Given the description of an element on the screen output the (x, y) to click on. 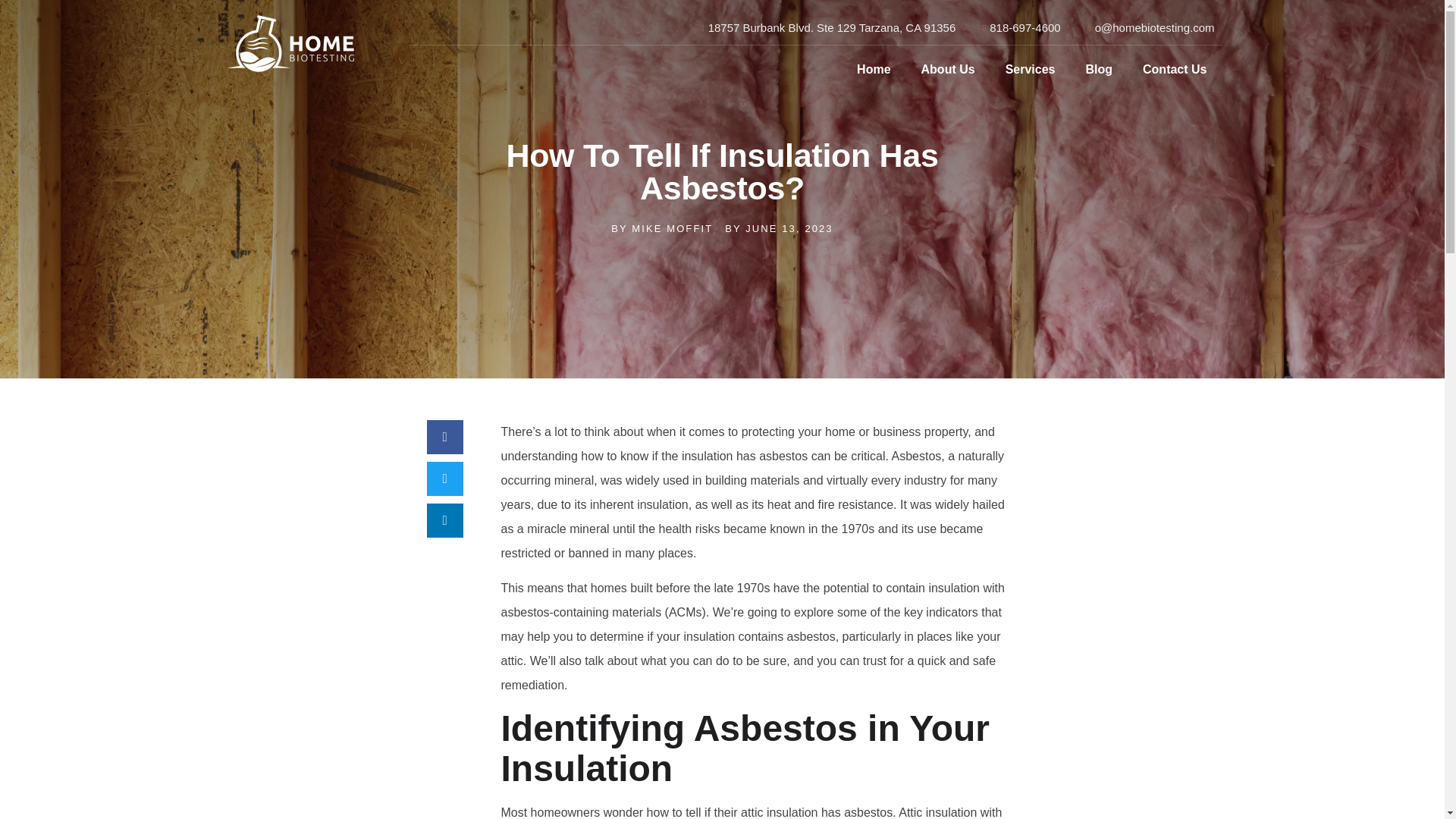
About Us (948, 69)
818-697-4600 (1016, 27)
Home (873, 69)
Services (1030, 69)
Contact Us (1174, 69)
